Given the description of an element on the screen output the (x, y) to click on. 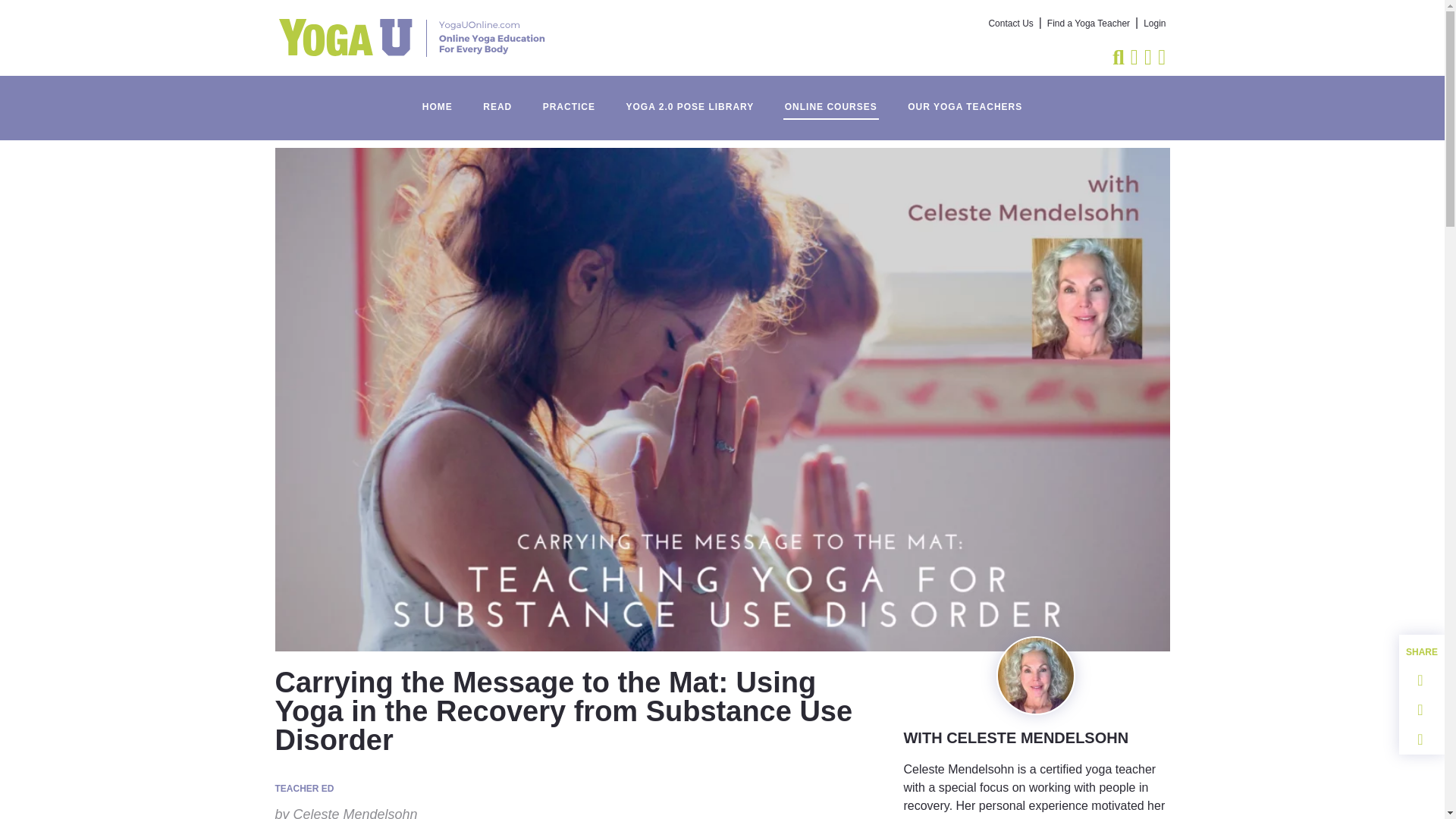
ONLINE COURSES (831, 99)
PRACTICE (568, 99)
OUR YOGA TEACHERS (964, 99)
Find a Yoga Teacher (1088, 23)
WITH CELESTE MENDELSOHN (1015, 737)
READ (496, 99)
HOME (437, 99)
Contact Us (1011, 23)
YOGA 2.0 POSE LIBRARY (689, 99)
by Celeste Mendelsohn (345, 811)
